Given the description of an element on the screen output the (x, y) to click on. 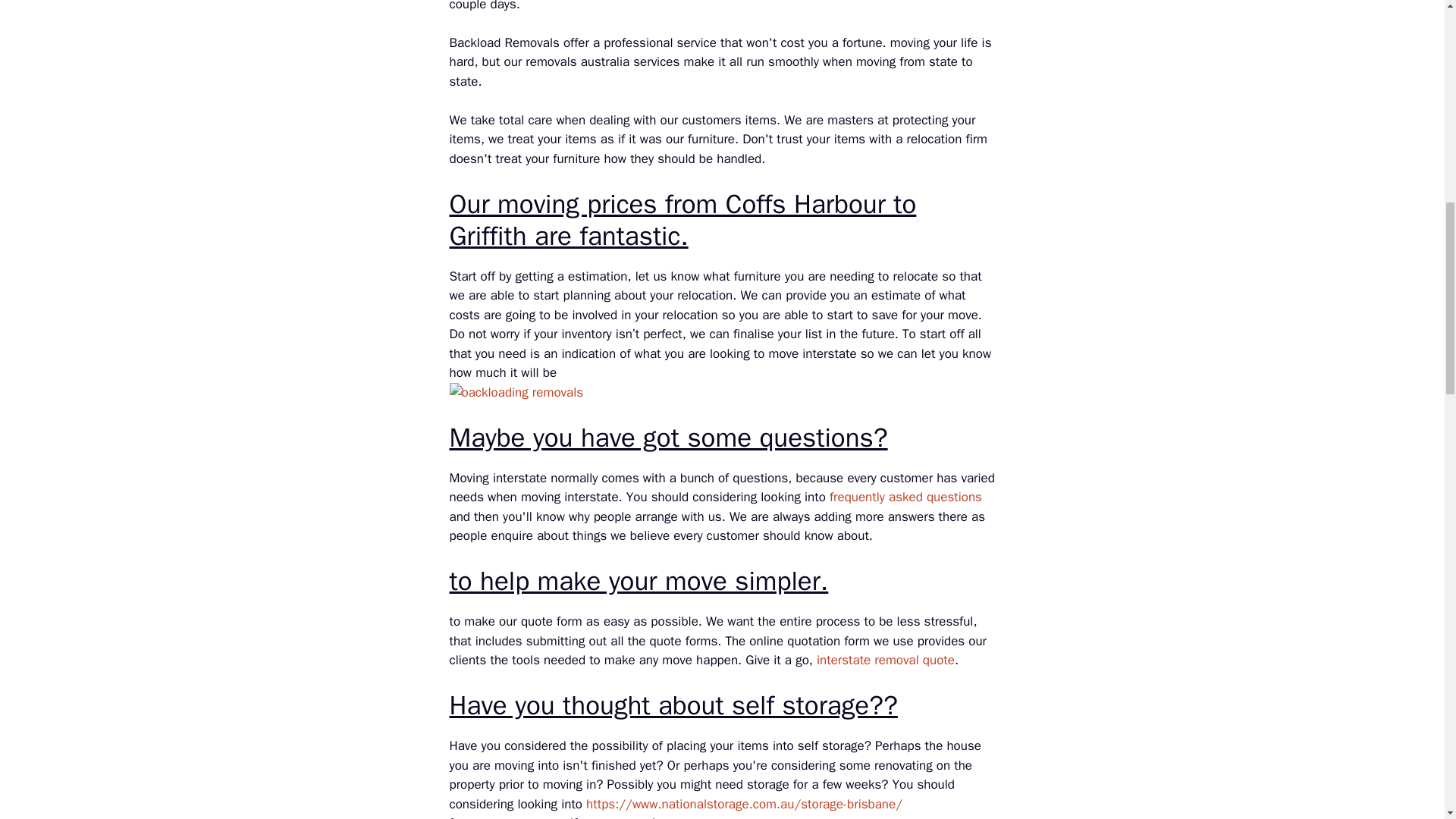
backloading removals (515, 392)
Self Storage (744, 804)
interstate removal quote (885, 659)
Scroll back to top (1406, 720)
frequently asked questions (905, 496)
